Given the description of an element on the screen output the (x, y) to click on. 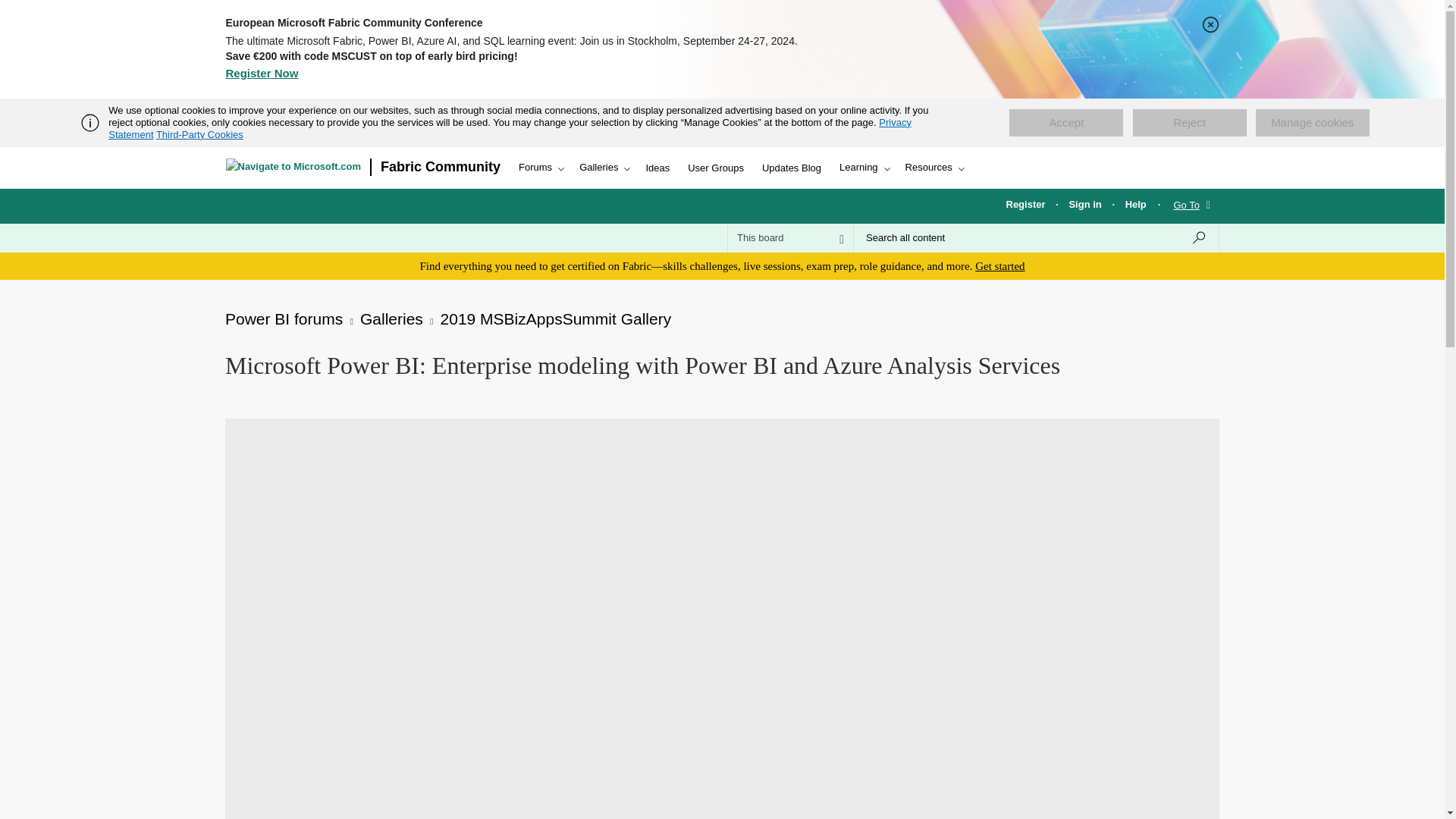
Fabric Community (440, 167)
Privacy Statement (509, 128)
Accept (1065, 122)
User Groups (715, 168)
Learning (862, 168)
Reject (1189, 122)
Search (1198, 237)
Forums (539, 168)
Manage cookies (1312, 122)
